Given the description of an element on the screen output the (x, y) to click on. 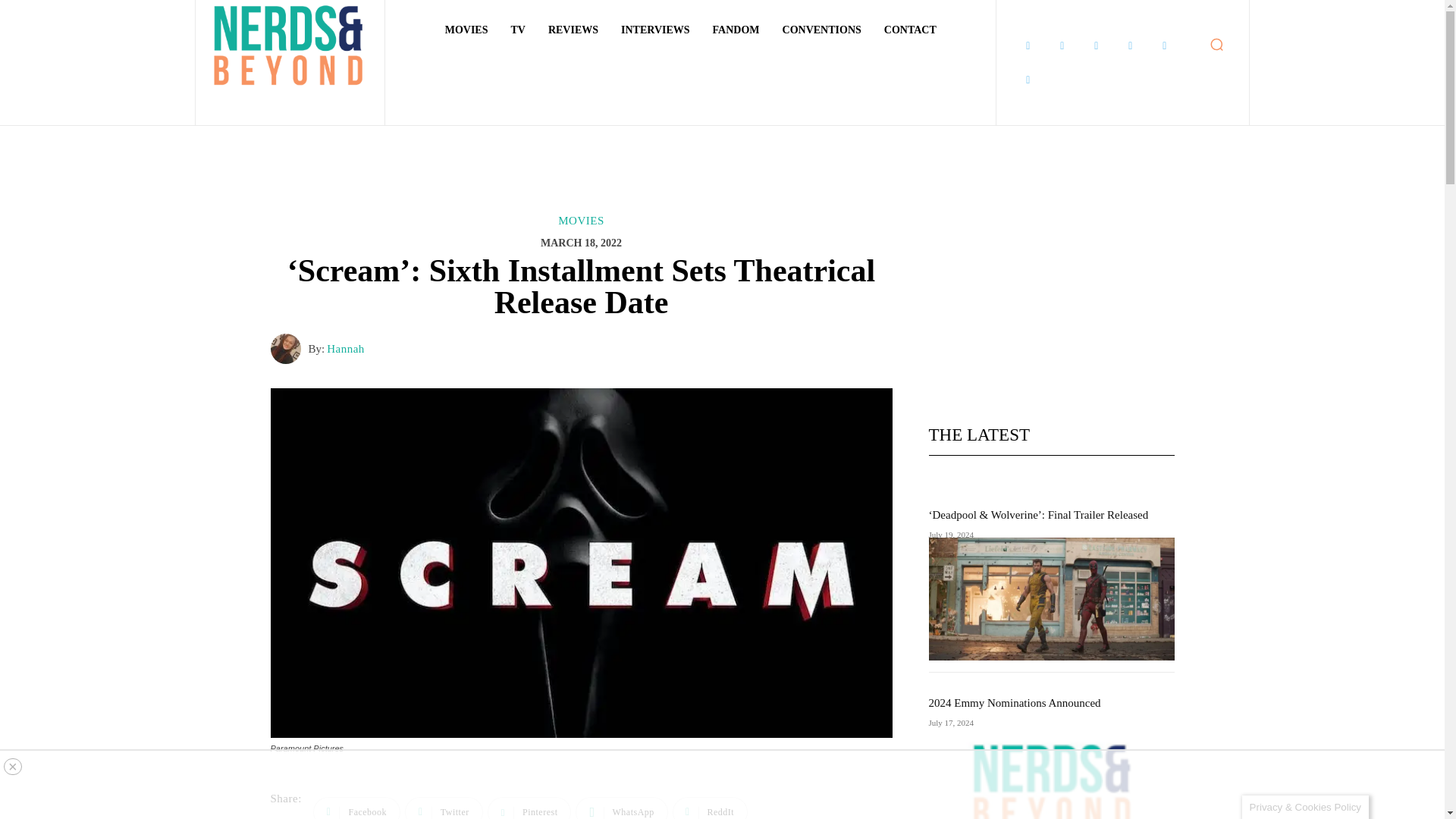
Hannah (288, 348)
Facebook (1027, 45)
Youtube (1027, 79)
Instagram (1061, 45)
TikTok (1129, 45)
Mail (1096, 45)
Twitter (1164, 45)
